Given the description of an element on the screen output the (x, y) to click on. 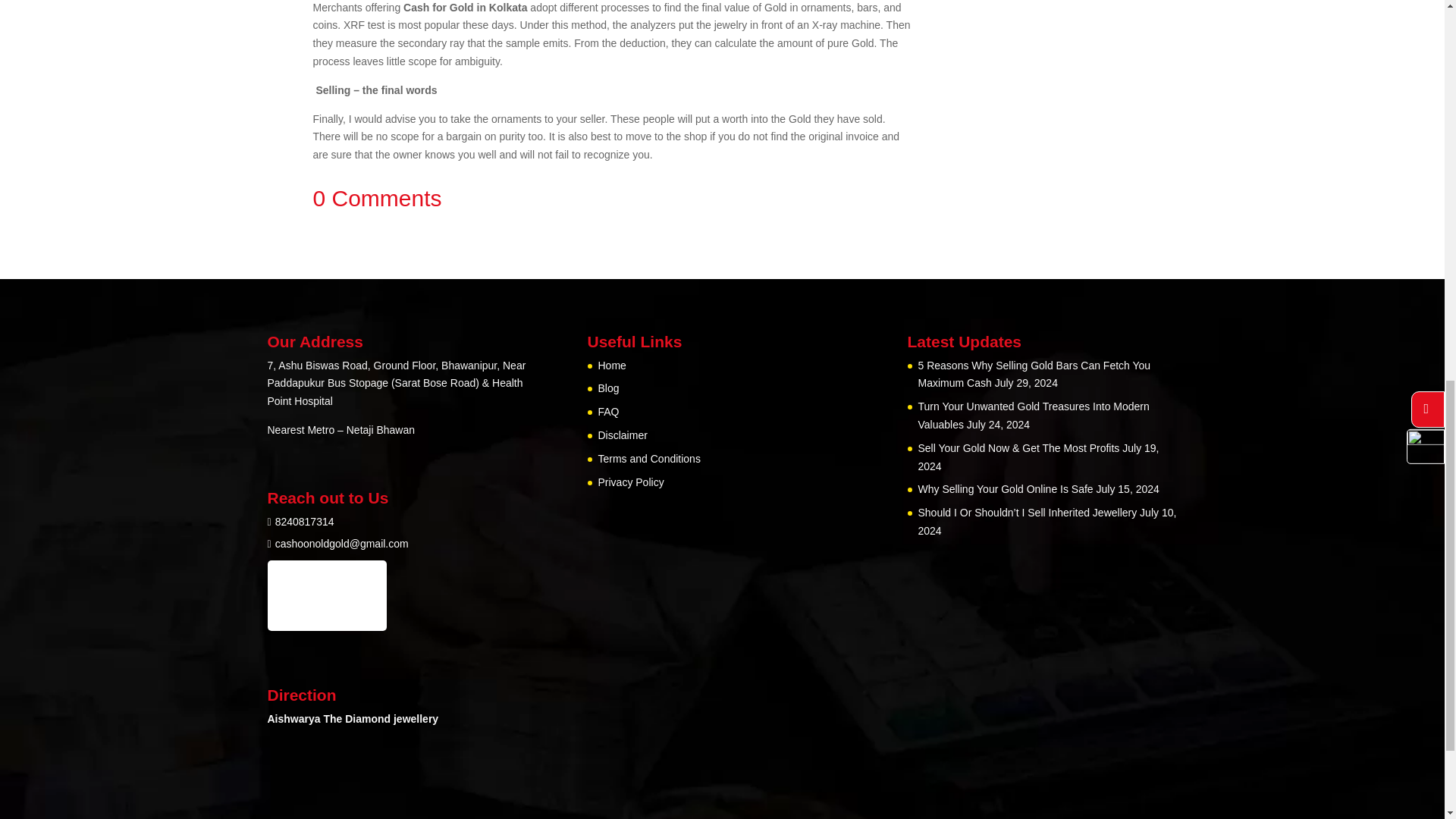
Why Selling Your Gold Online Is Safe (1005, 489)
5 Reasons Why Selling Gold Bars Can Fetch You Maximum Cash (1033, 374)
Blog (607, 387)
Turn Your Unwanted Gold Treasures Into Modern Valuables (1032, 415)
FAQ (607, 411)
8240817314 (304, 521)
Home (611, 365)
Privacy Policy (629, 481)
Terms and Conditions (648, 458)
Disclaimer (621, 435)
